Given the description of an element on the screen output the (x, y) to click on. 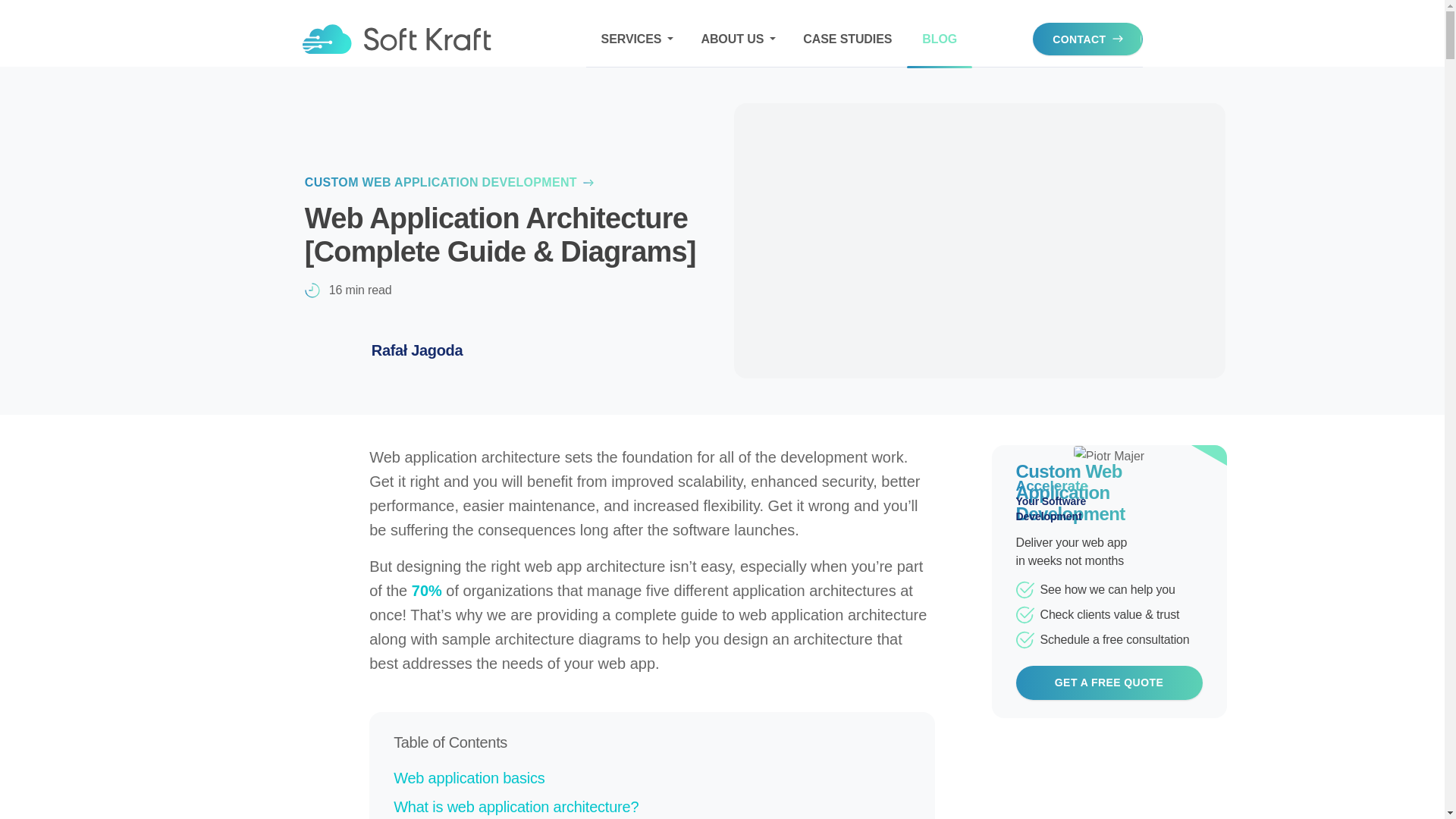
ABOUT US (736, 39)
CONTACT (1086, 39)
SERVICES (635, 39)
CUSTOM WEB APPLICATION DEVELOPMENT (449, 182)
BLOG (939, 39)
CASE STUDIES (847, 39)
